Given the description of an element on the screen output the (x, y) to click on. 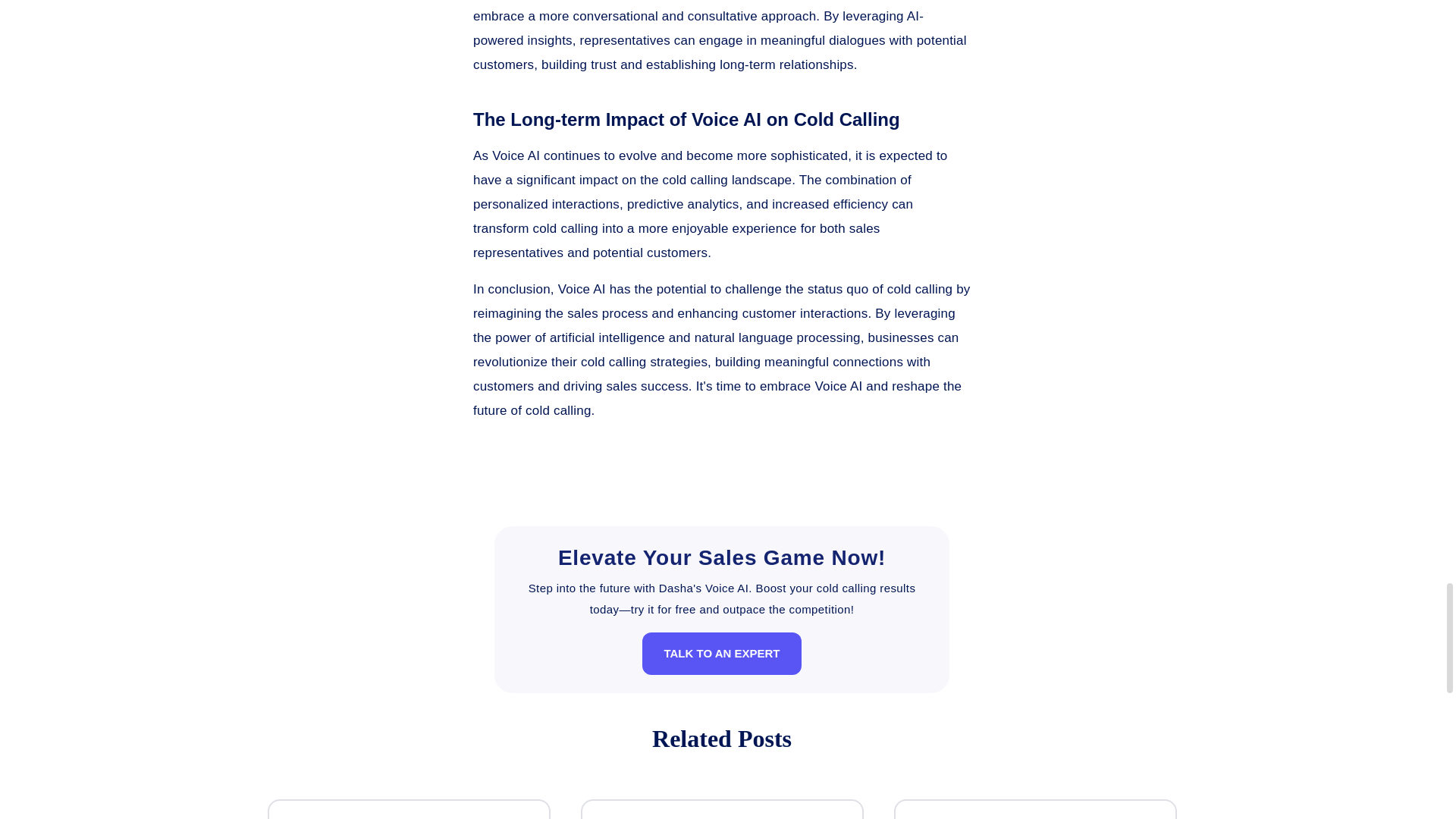
TALK TO AN EXPERT (721, 653)
